Given the description of an element on the screen output the (x, y) to click on. 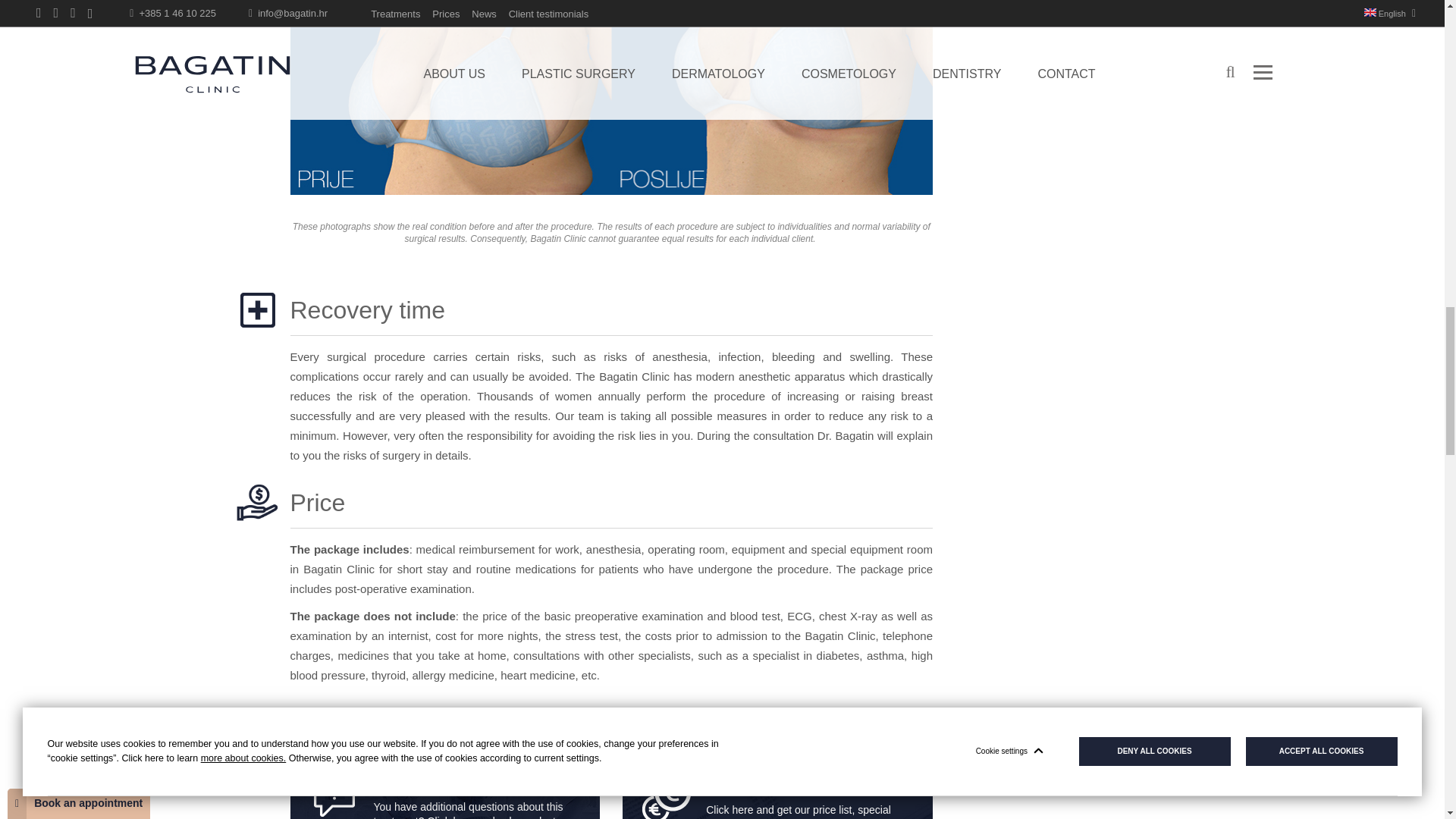
Breast reduction (611, 97)
